Given the description of an element on the screen output the (x, y) to click on. 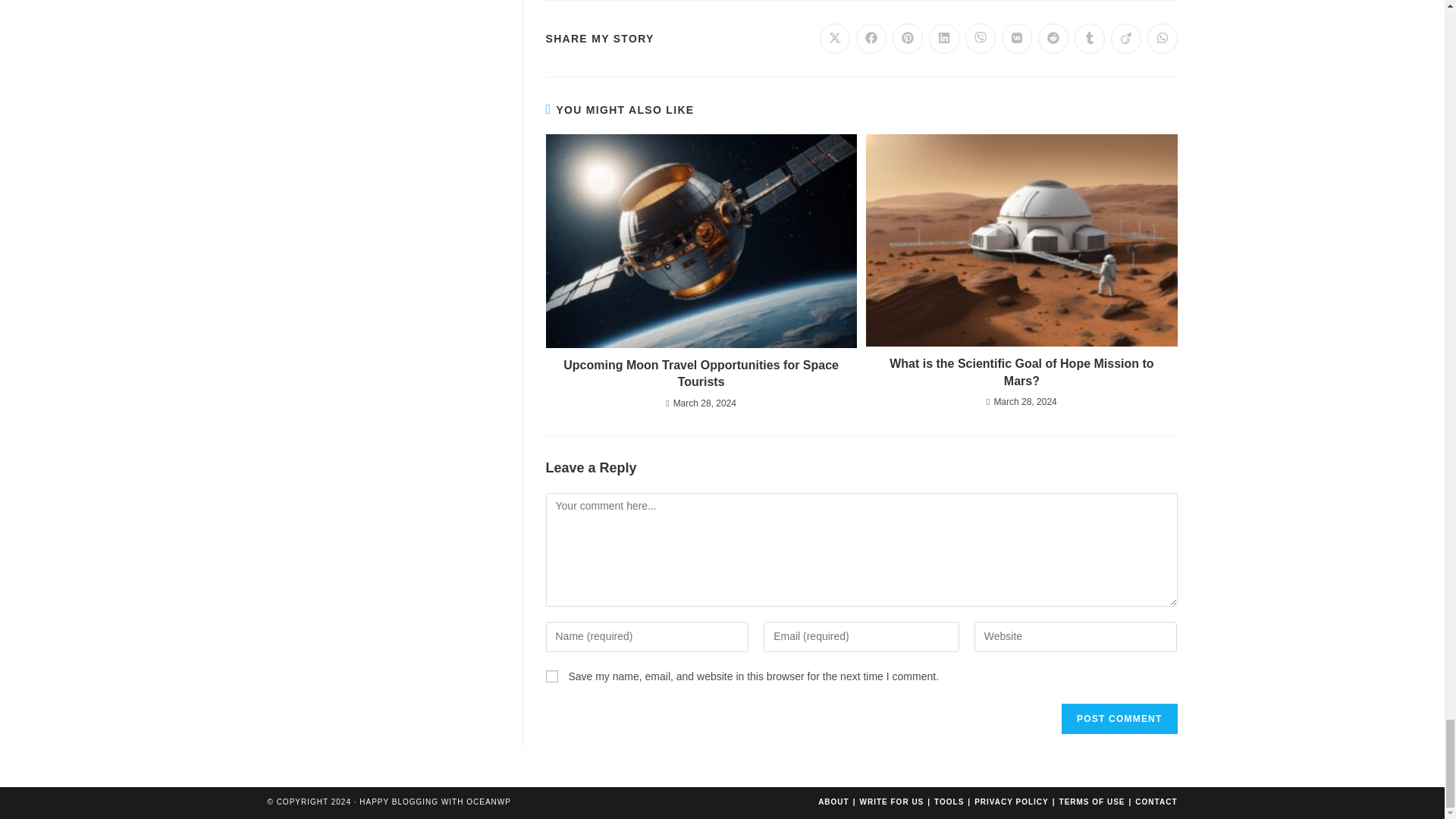
Post Comment (1118, 718)
yes (551, 676)
